Given the description of an element on the screen output the (x, y) to click on. 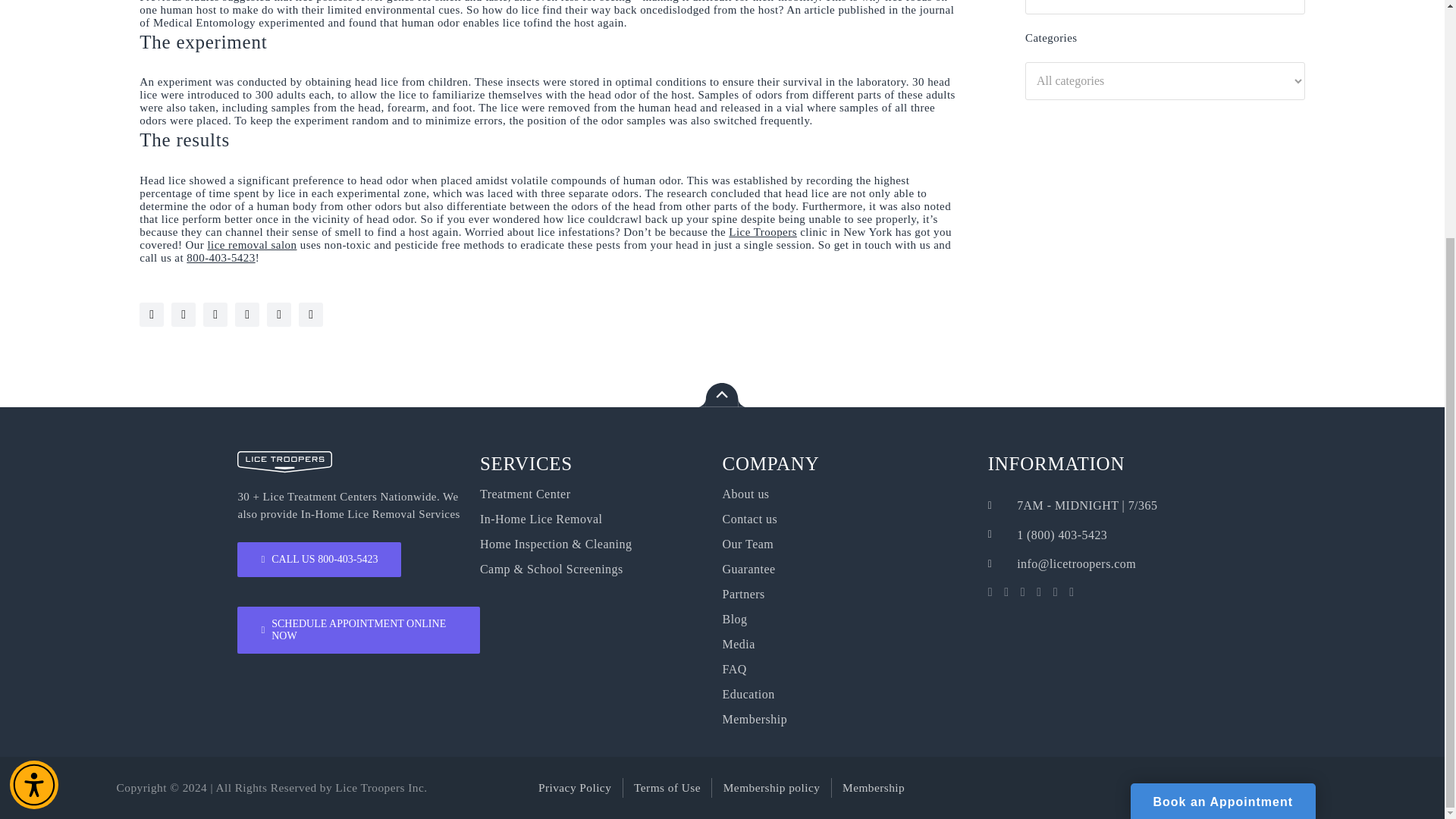
Pinterest (310, 314)
Group 914 (284, 462)
X (215, 314)
Facebook (246, 314)
LinkedIn (278, 314)
YouTube (151, 314)
Instagram (183, 314)
Accessibility Menu (34, 458)
